Given the description of an element on the screen output the (x, y) to click on. 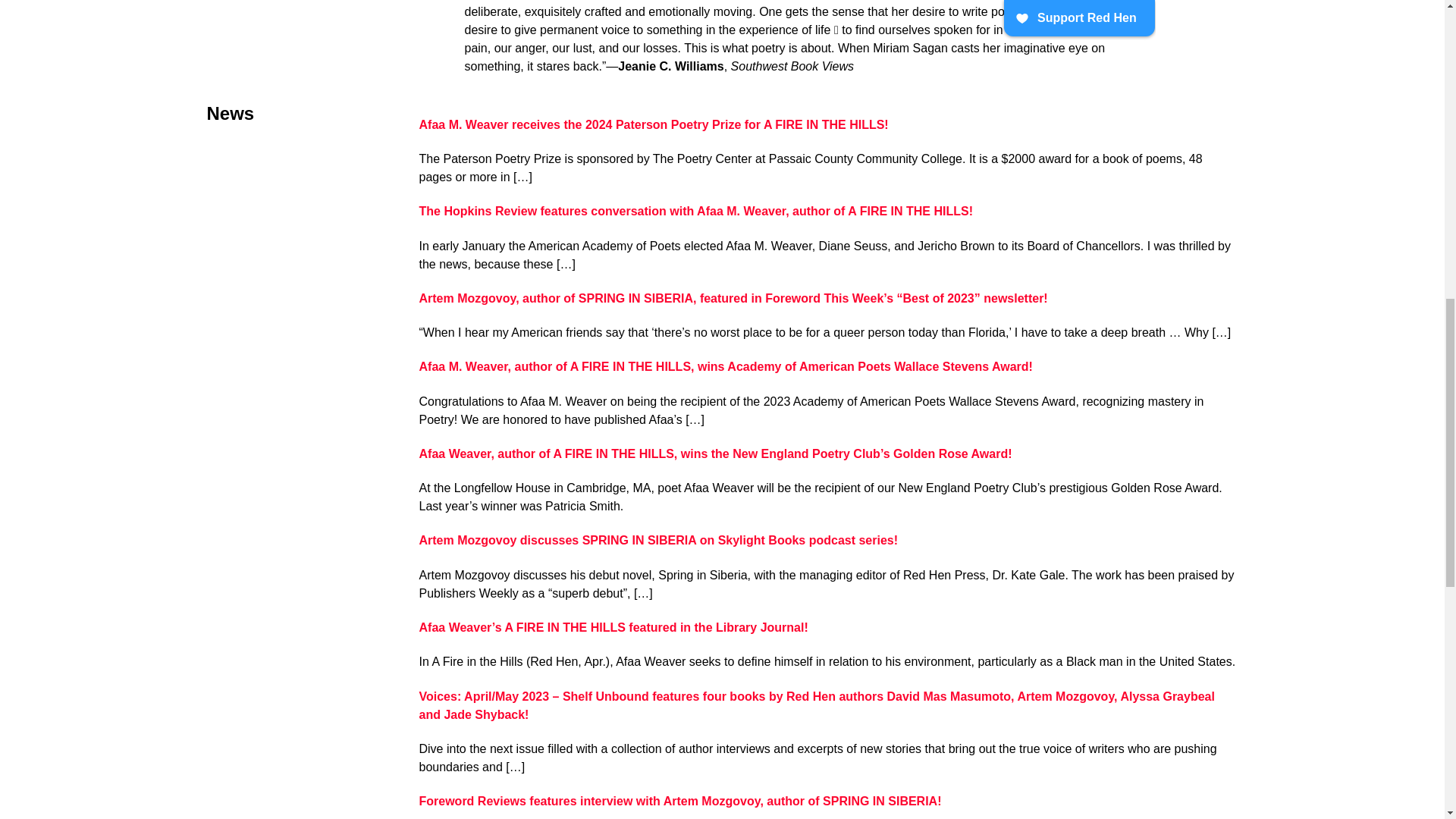
Permanent Link to Miriam Sagan (658, 540)
Permanent Link to Miriam Sagan (679, 800)
Permanent Link to Miriam Sagan (732, 297)
Permanent Link to Miriam Sagan (725, 366)
Permanent Link to Miriam Sagan (613, 626)
Permanent Link to Miriam Sagan (715, 453)
Permanent Link to Miriam Sagan (653, 124)
Permanent Link to Miriam Sagan (695, 210)
Permanent Link to Miriam Sagan (816, 705)
